Given the description of an element on the screen output the (x, y) to click on. 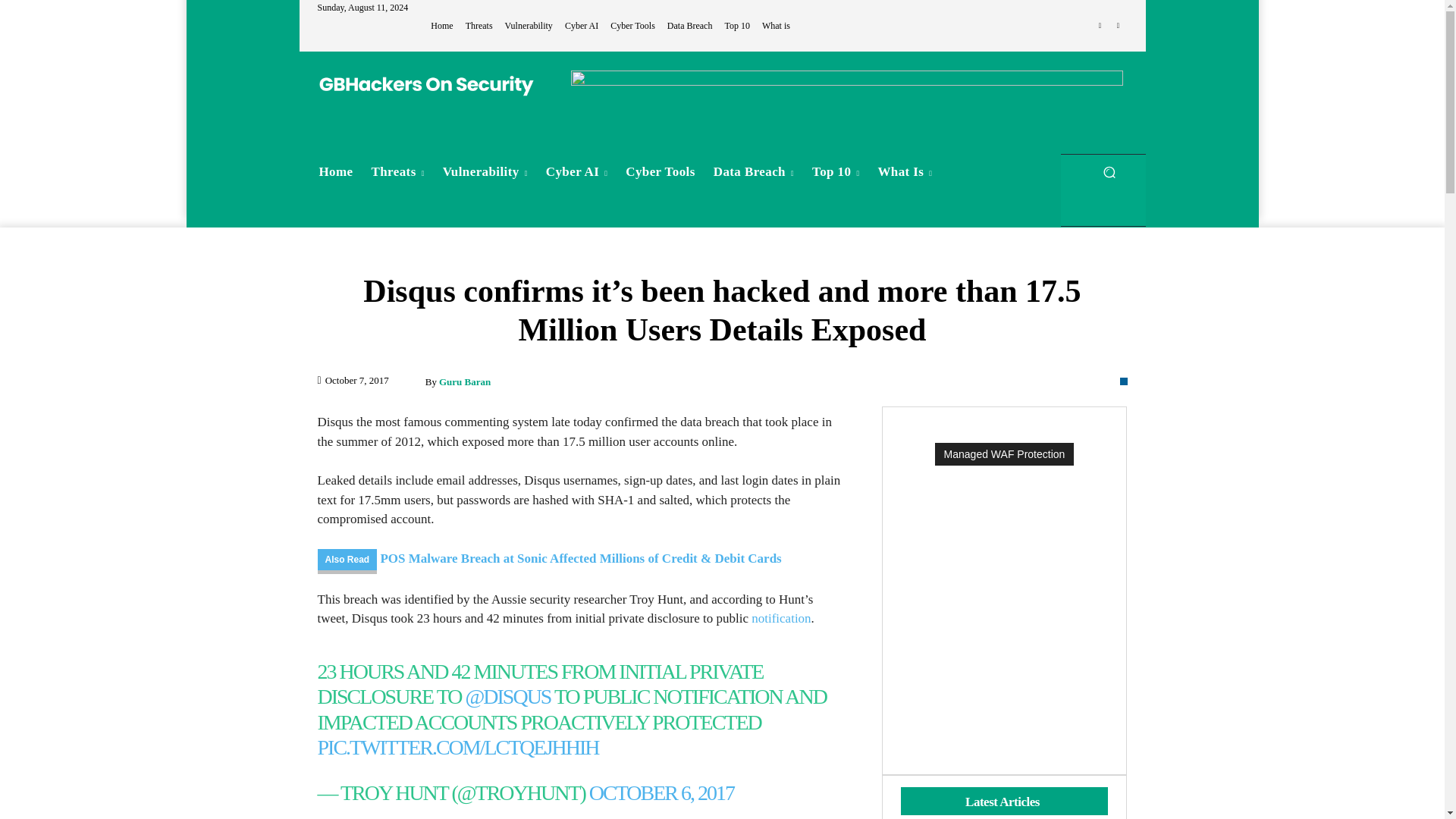
Data Breach (689, 25)
Cyber Tools (632, 25)
Home (441, 25)
Top 10 (736, 25)
Linkedin (1099, 25)
Cyber AI (581, 25)
What is (775, 25)
Threats (397, 171)
Twitter (1117, 25)
Vulnerability (529, 25)
